Given the description of an element on the screen output the (x, y) to click on. 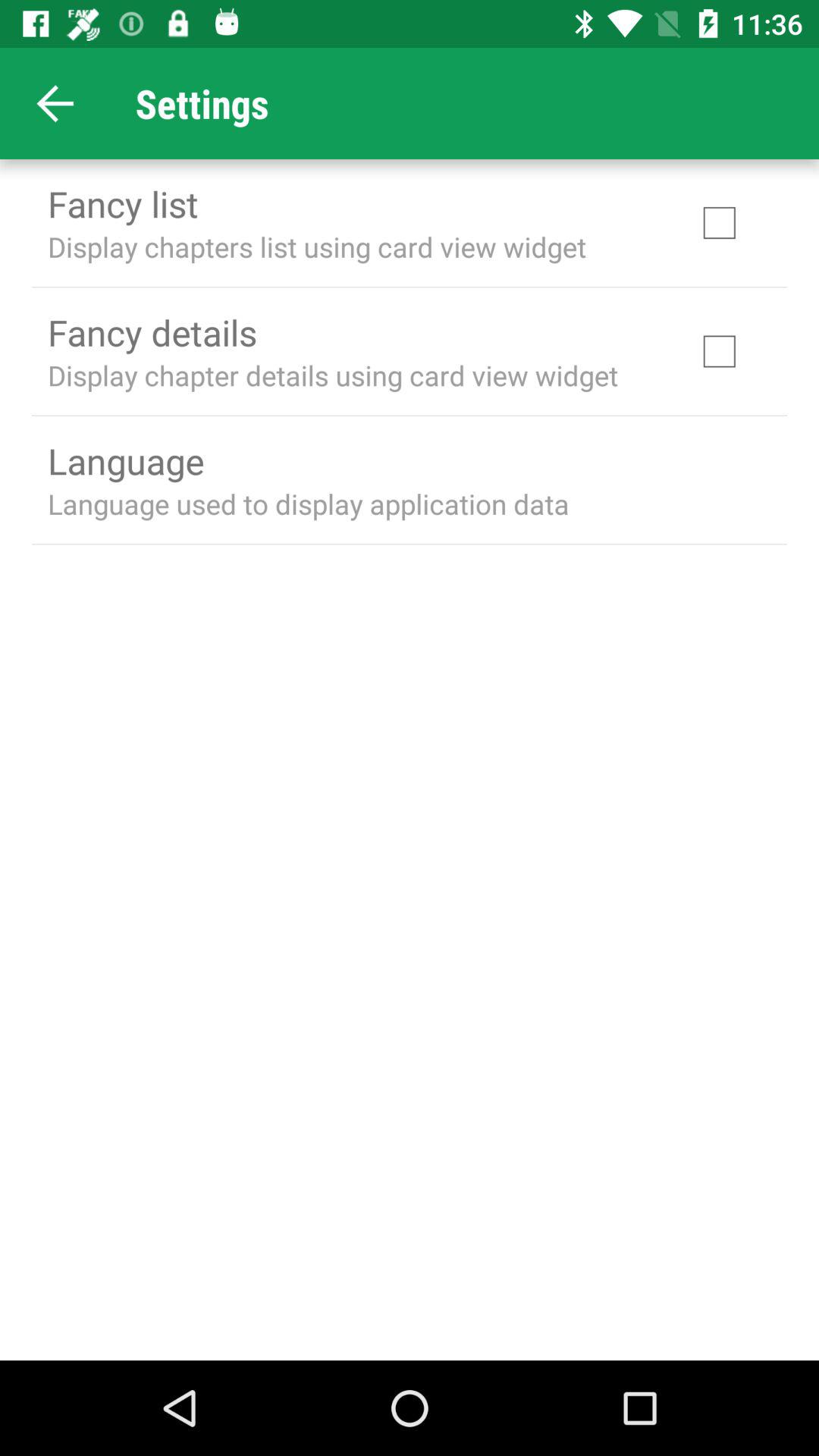
go back (55, 103)
